Given the description of an element on the screen output the (x, y) to click on. 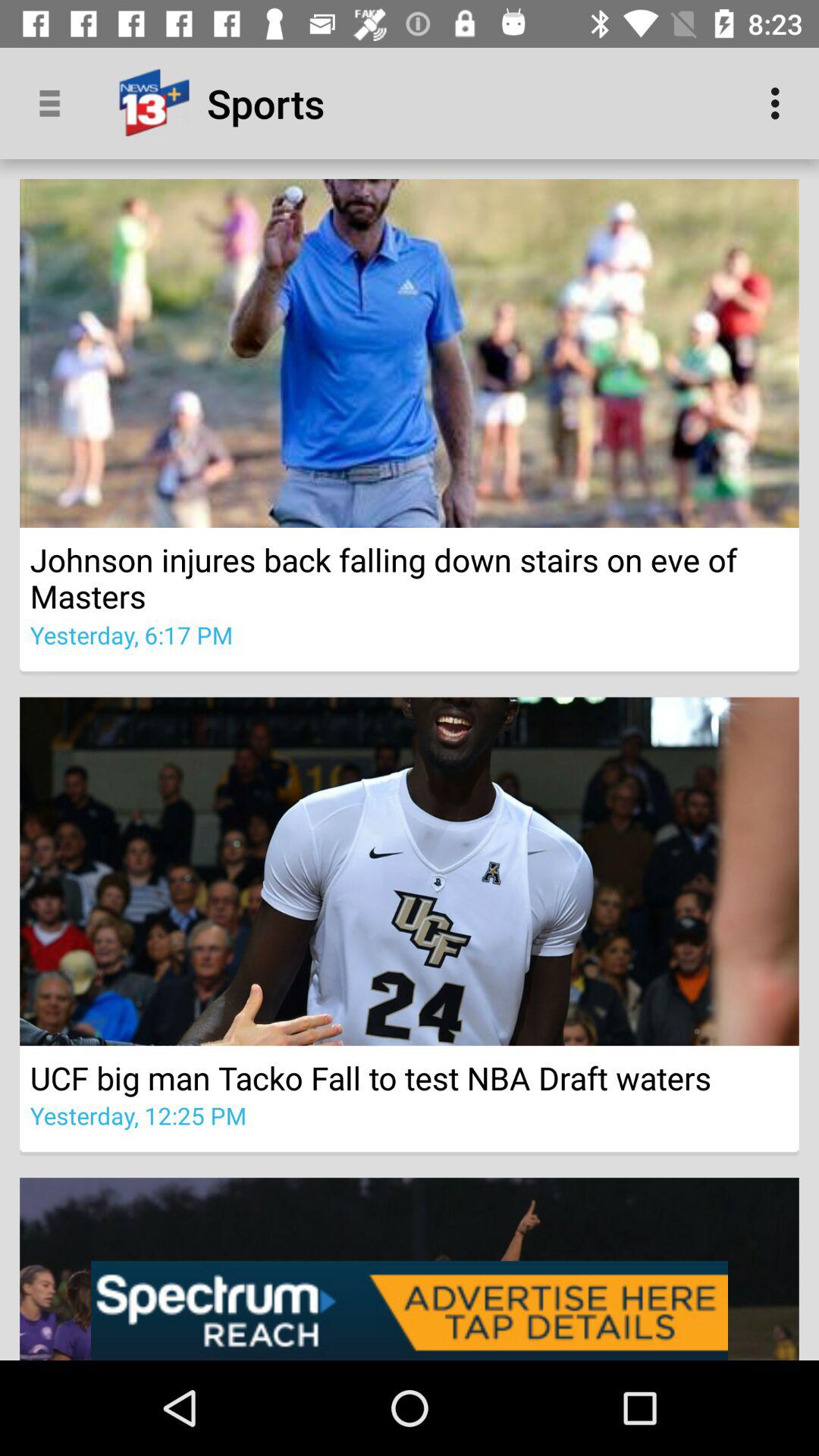
advertisement bar (409, 1310)
